Given the description of an element on the screen output the (x, y) to click on. 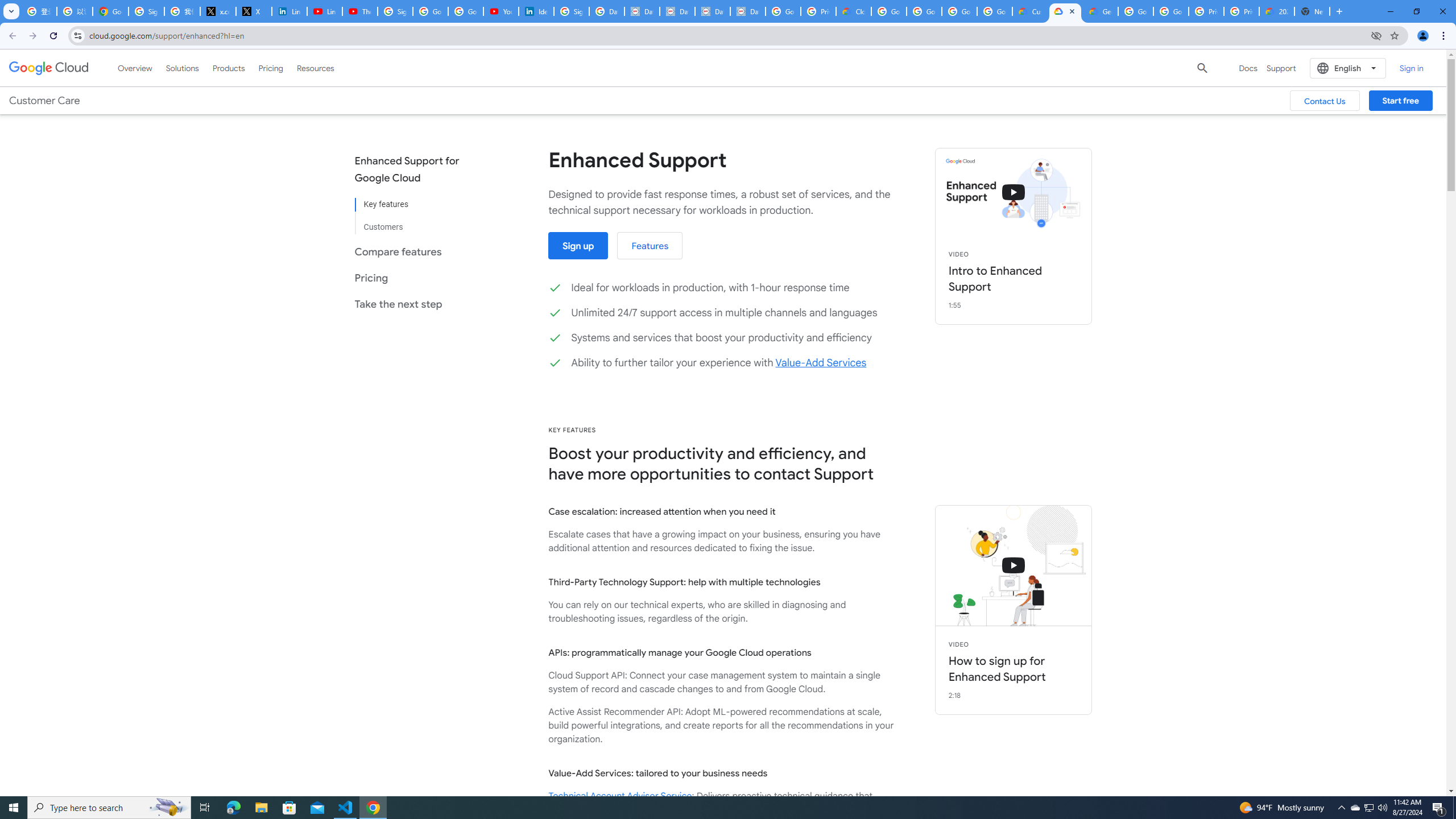
Identity verification via Persona | LinkedIn Help (536, 11)
Features (649, 245)
Customer Care | Google Cloud (1029, 11)
Contact Us (1324, 100)
Sign up (578, 245)
